Given the description of an element on the screen output the (x, y) to click on. 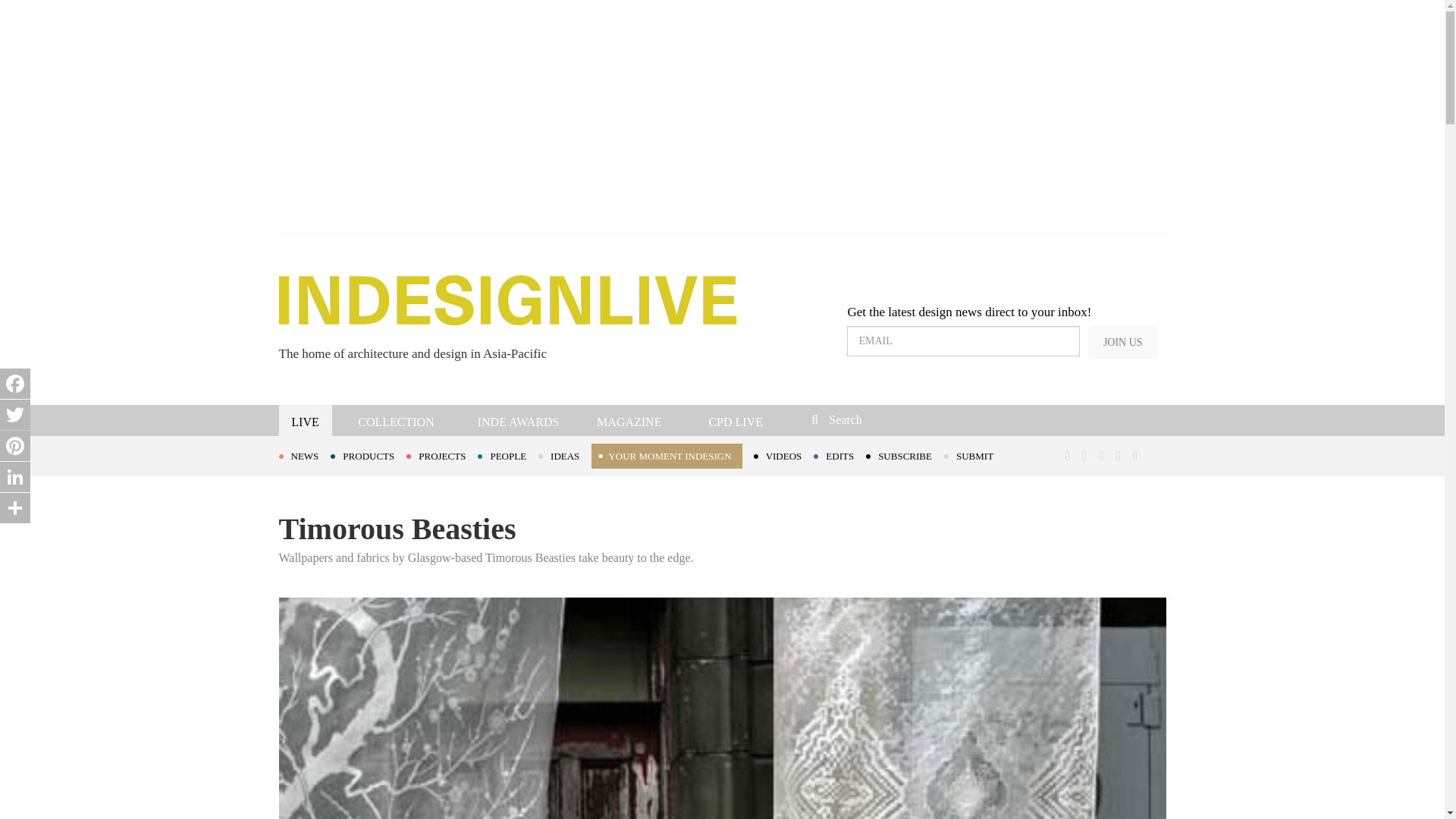
JOIN US (1122, 341)
IDEAS (564, 455)
NEWS (305, 455)
Search (913, 418)
VIDEOS (783, 455)
PRODUCTS (368, 455)
YOUR MOMENT INDESIGN (666, 455)
PROJECTS (441, 455)
SUBSCRIBE (904, 455)
EDITS (839, 455)
SUBMIT (974, 455)
PEOPLE (507, 455)
